Given the description of an element on the screen output the (x, y) to click on. 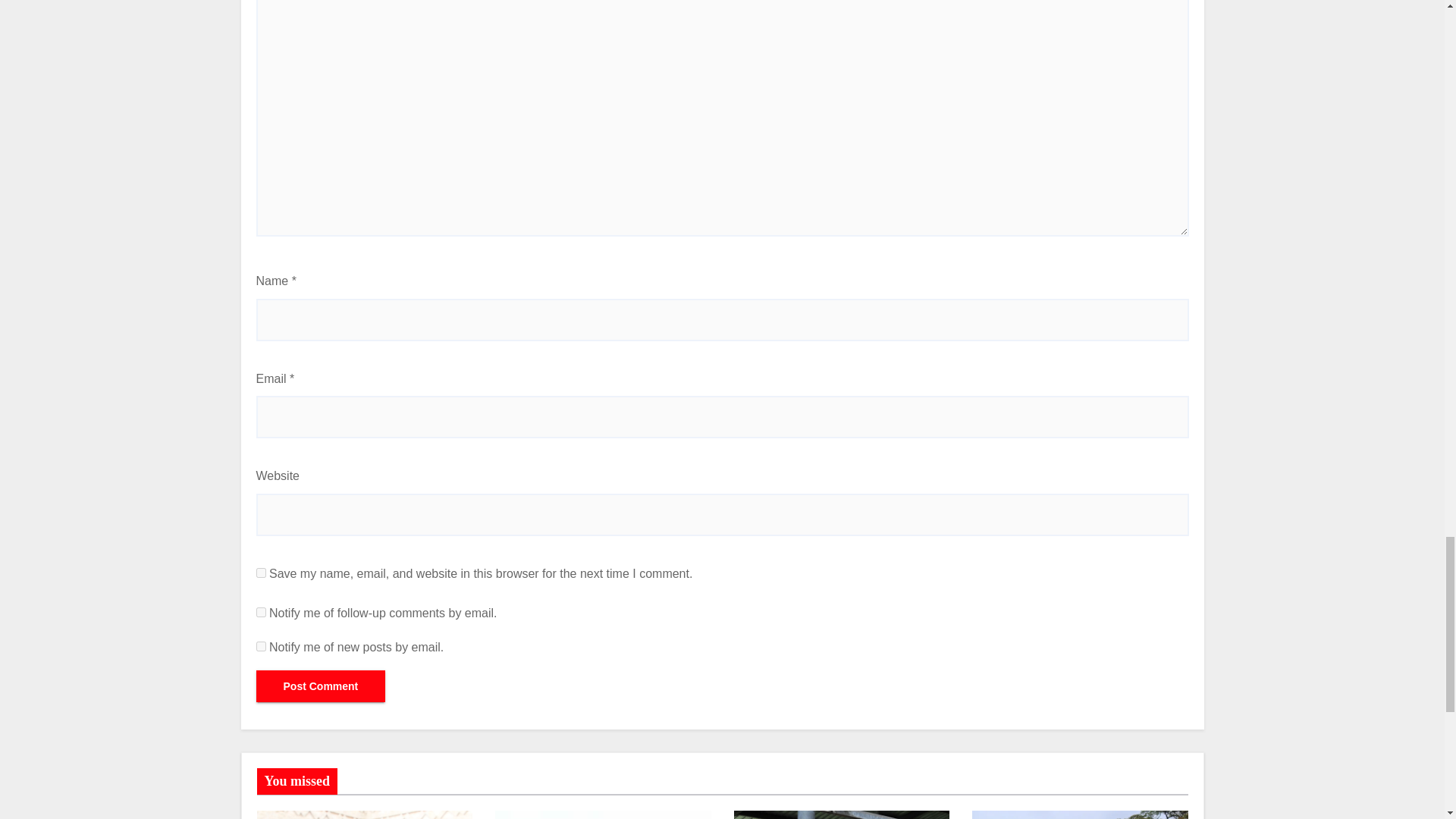
Post Comment (320, 685)
subscribe (261, 646)
subscribe (261, 612)
yes (261, 573)
